Given the description of an element on the screen output the (x, y) to click on. 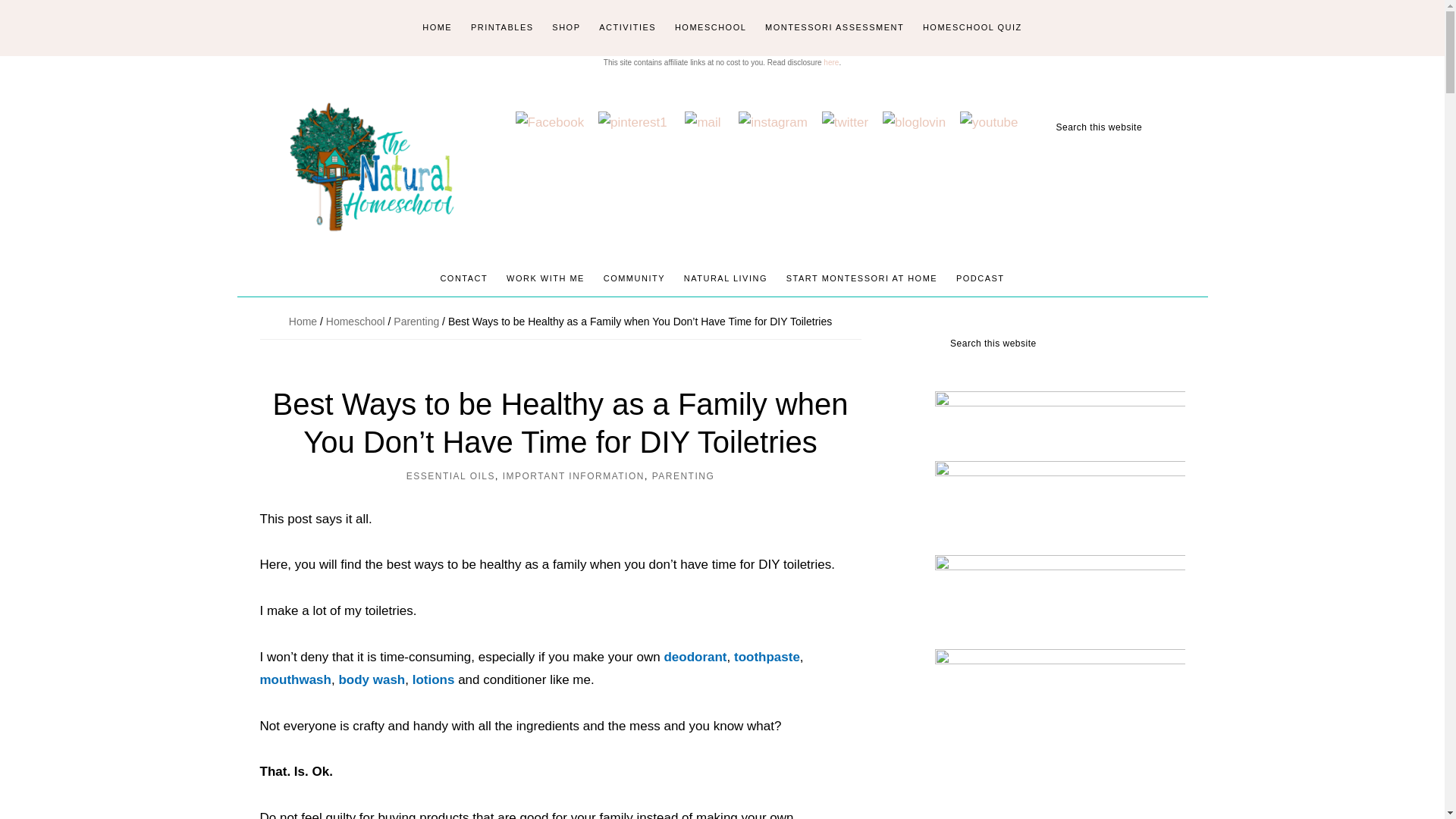
HOME (437, 27)
PRINTABLES (502, 27)
